Given the description of an element on the screen output the (x, y) to click on. 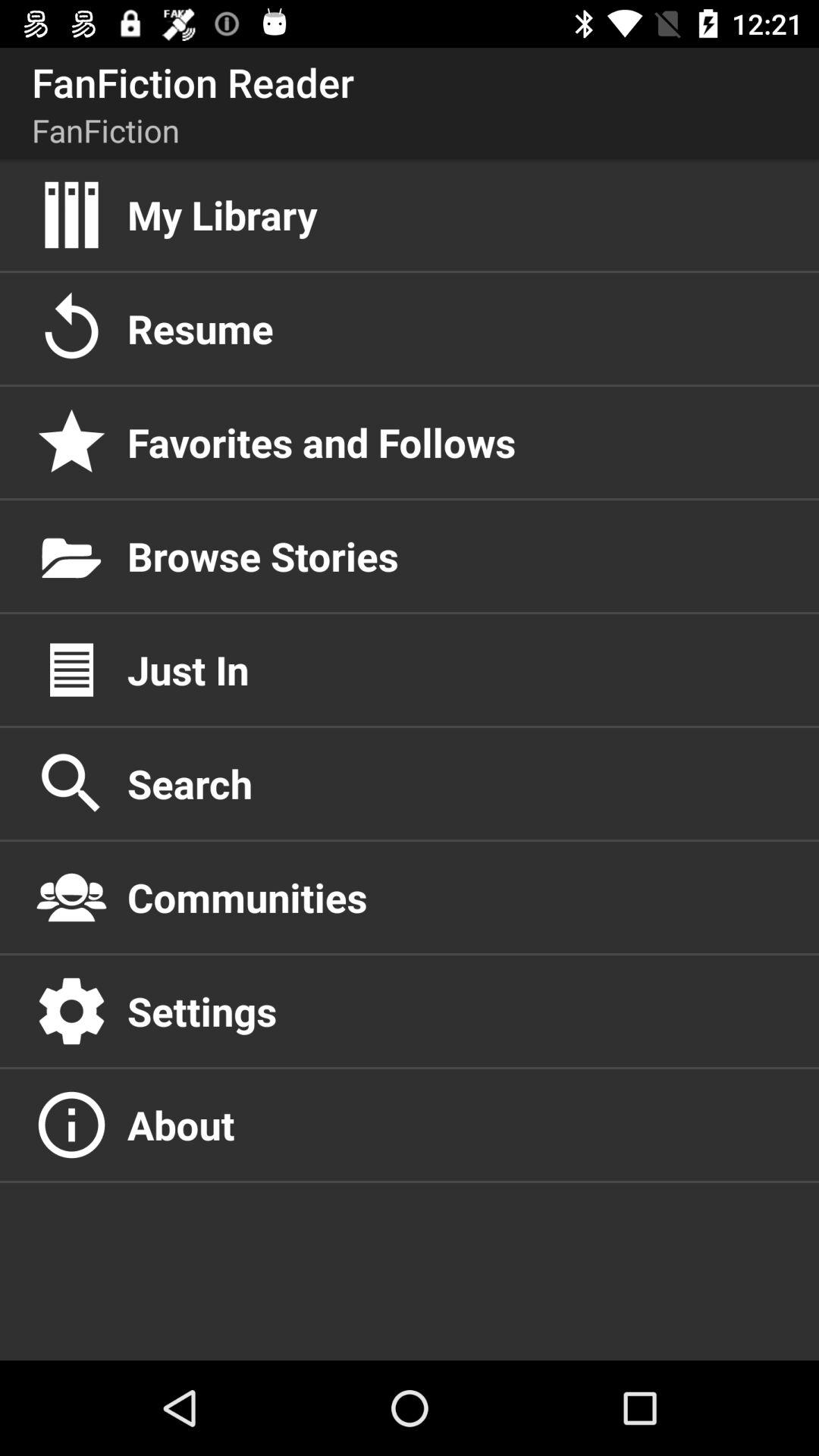
tap the browse stories item (457, 556)
